Given the description of an element on the screen output the (x, y) to click on. 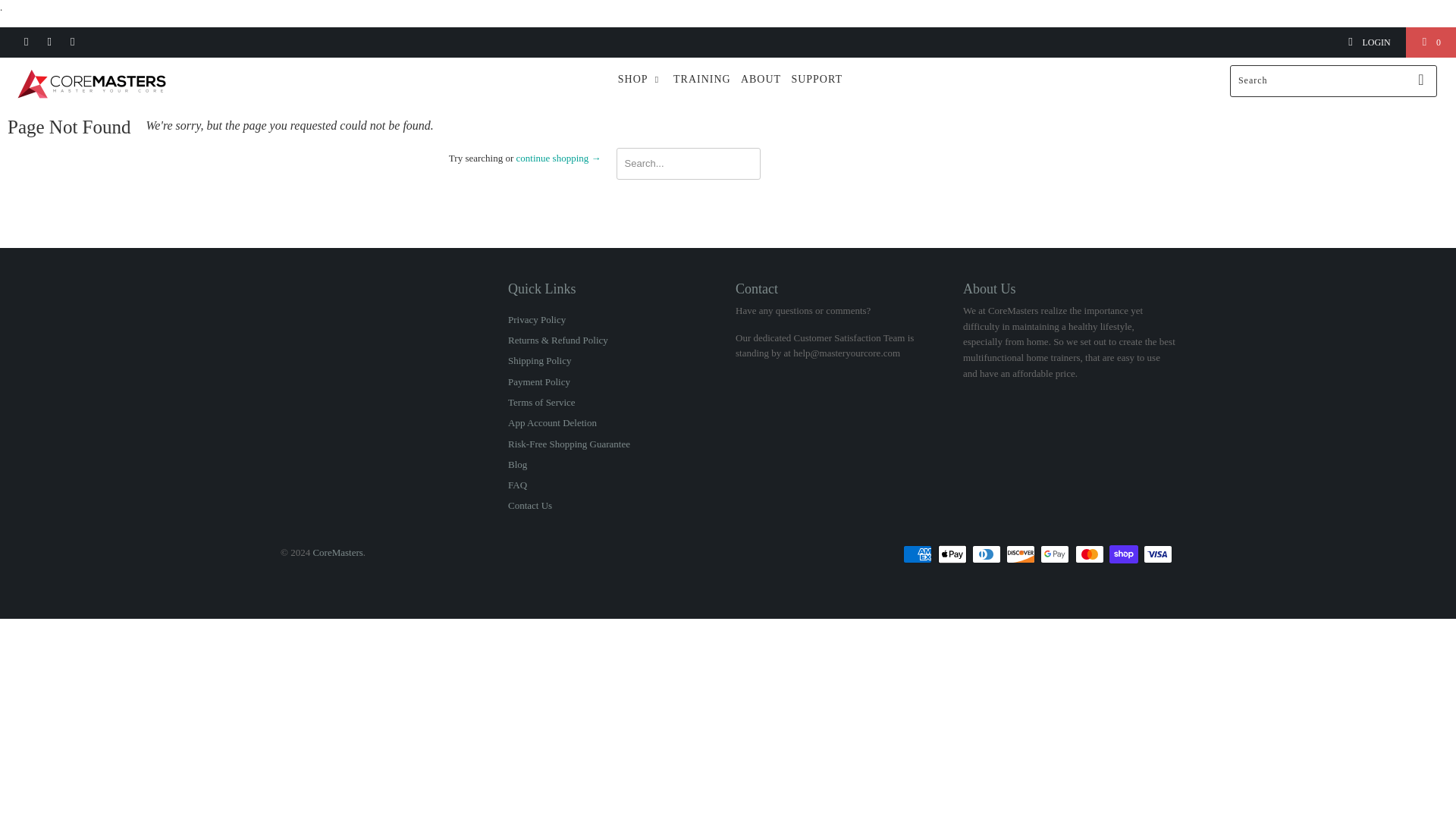
Terms of Service (541, 401)
SUPPORT (816, 80)
CoreMasters on Facebook (25, 41)
TRAINING (701, 80)
SHOP (640, 80)
Payment Policy (539, 381)
LOGIN (1368, 42)
CoreMasters (123, 83)
Shipping Policy (539, 360)
CoreMasters on Instagram (48, 41)
